Given the description of an element on the screen output the (x, y) to click on. 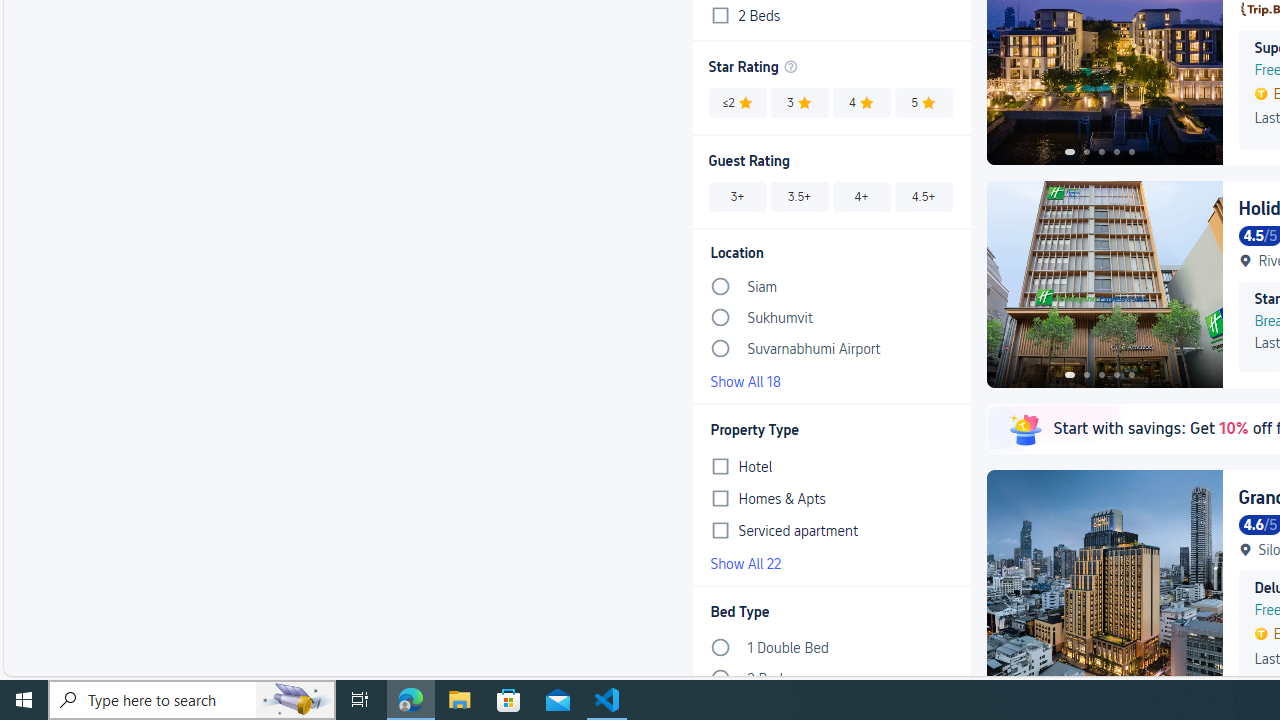
Show All 22 (831, 561)
hotel overview picture (1103, 284)
